Given the description of an element on the screen output the (x, y) to click on. 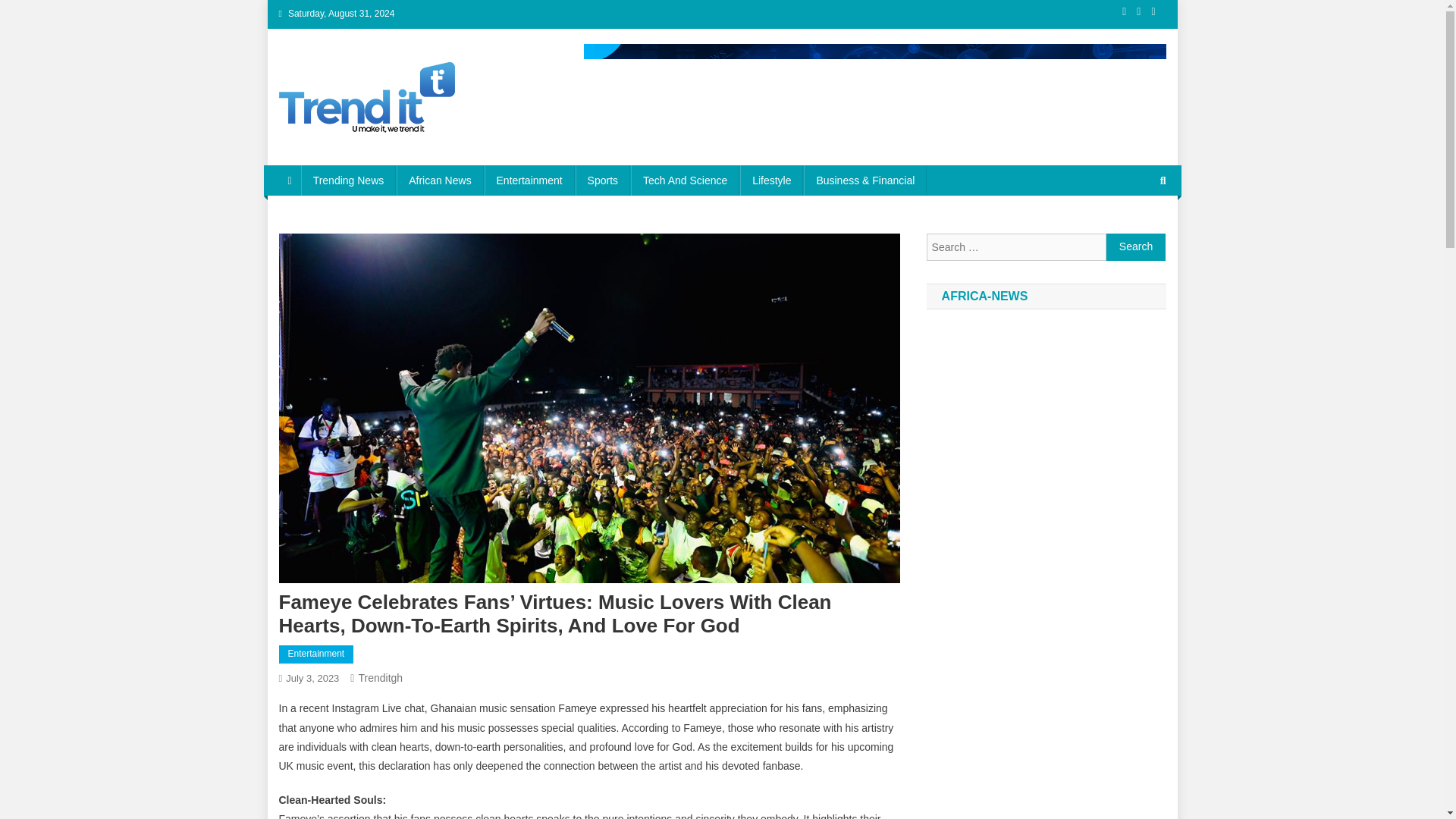
Entertainment (529, 180)
Trenditgh (380, 677)
Entertainment (316, 654)
Search (1133, 230)
Trending News (348, 180)
Search (1136, 247)
Lifestyle (771, 180)
July 3, 2023 (312, 677)
Tech And Science (684, 180)
